Given the description of an element on the screen output the (x, y) to click on. 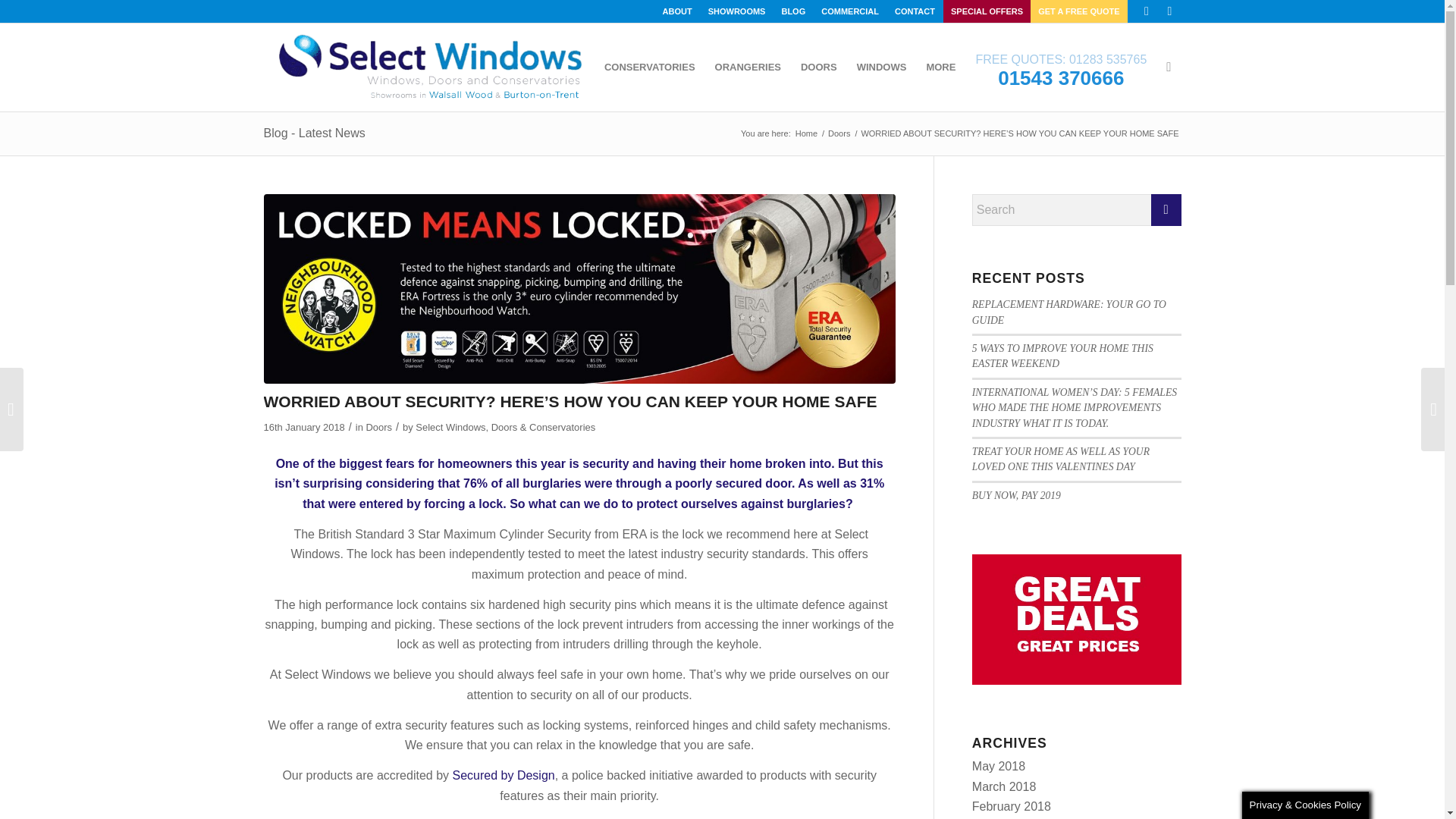
COMMERCIAL (850, 11)
ABOUT (677, 11)
Doors (838, 133)
Blog - Latest News (314, 132)
select-windows-windows-conservatories-logo2019 (435, 67)
ORANGERIES (747, 67)
SPECIAL OFFERS (986, 11)
Secured by Design (502, 775)
SHOWROOMS (736, 11)
Doors (378, 427)
Mail (1169, 11)
X (1146, 11)
Home (806, 133)
Permanent Link: Blog - Latest News (314, 132)
CONSERVATORIES (649, 67)
